Given the description of an element on the screen output the (x, y) to click on. 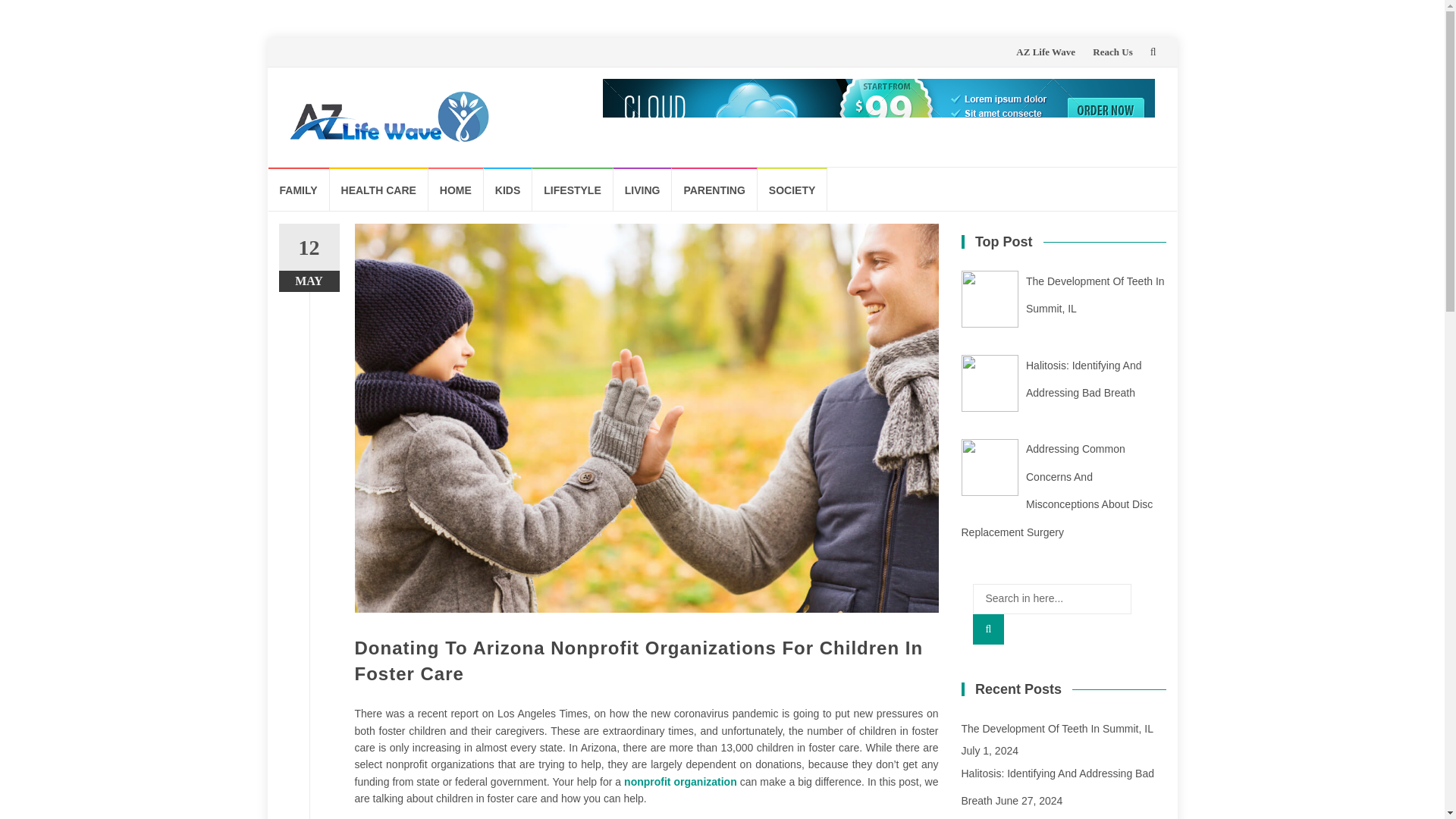
FAMILY (298, 188)
AZ Life Wave (1045, 51)
PARENTING (714, 188)
Search (988, 629)
nonprofit organization (680, 781)
HOME (455, 188)
SOCIETY (792, 188)
Search for: (1051, 598)
Reach Us (1112, 51)
HEALTH CARE (379, 188)
LIVING (642, 188)
